Given the description of an element on the screen output the (x, y) to click on. 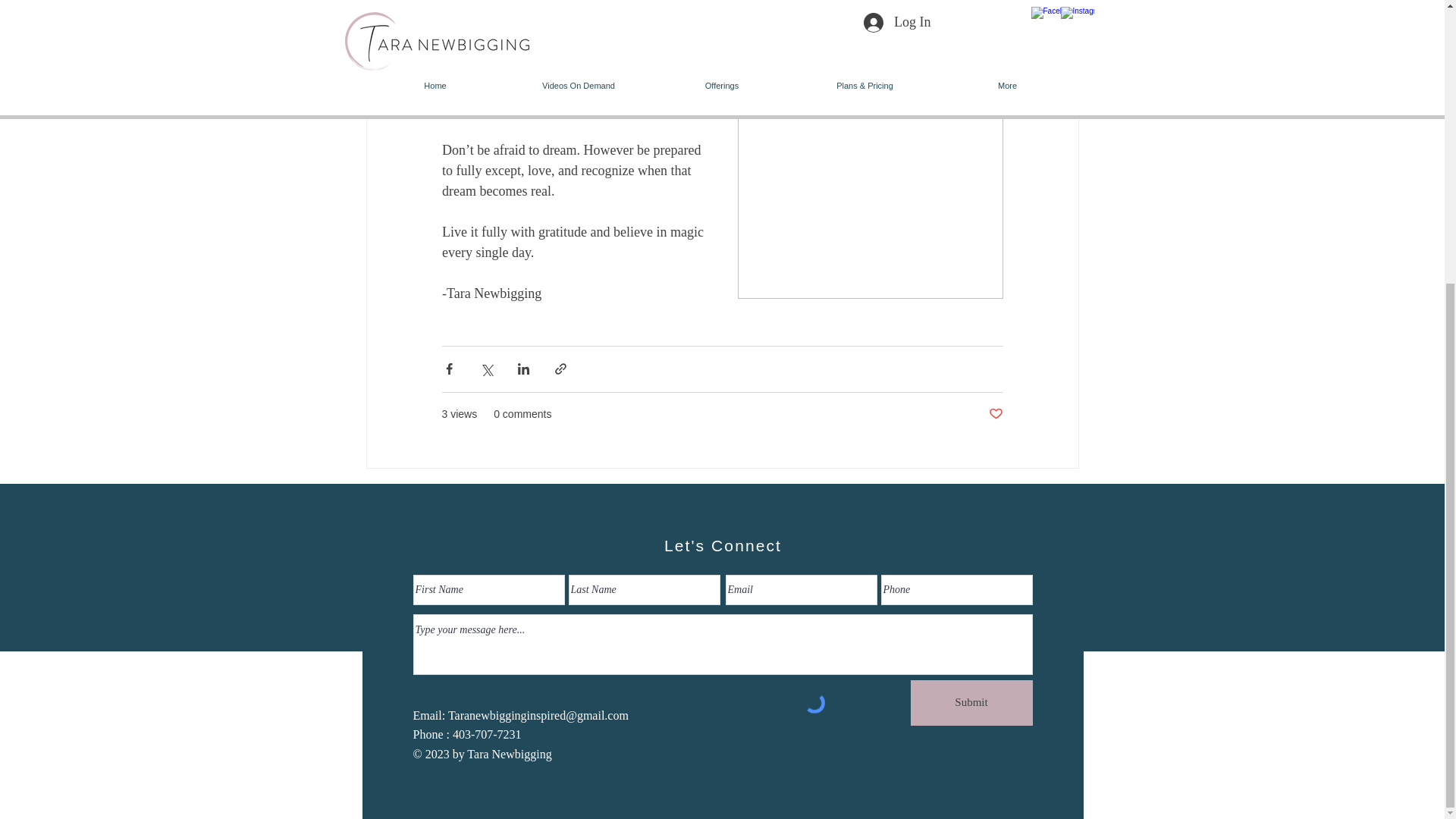
Post not marked as liked (995, 414)
Submit (971, 702)
